Given the description of an element on the screen output the (x, y) to click on. 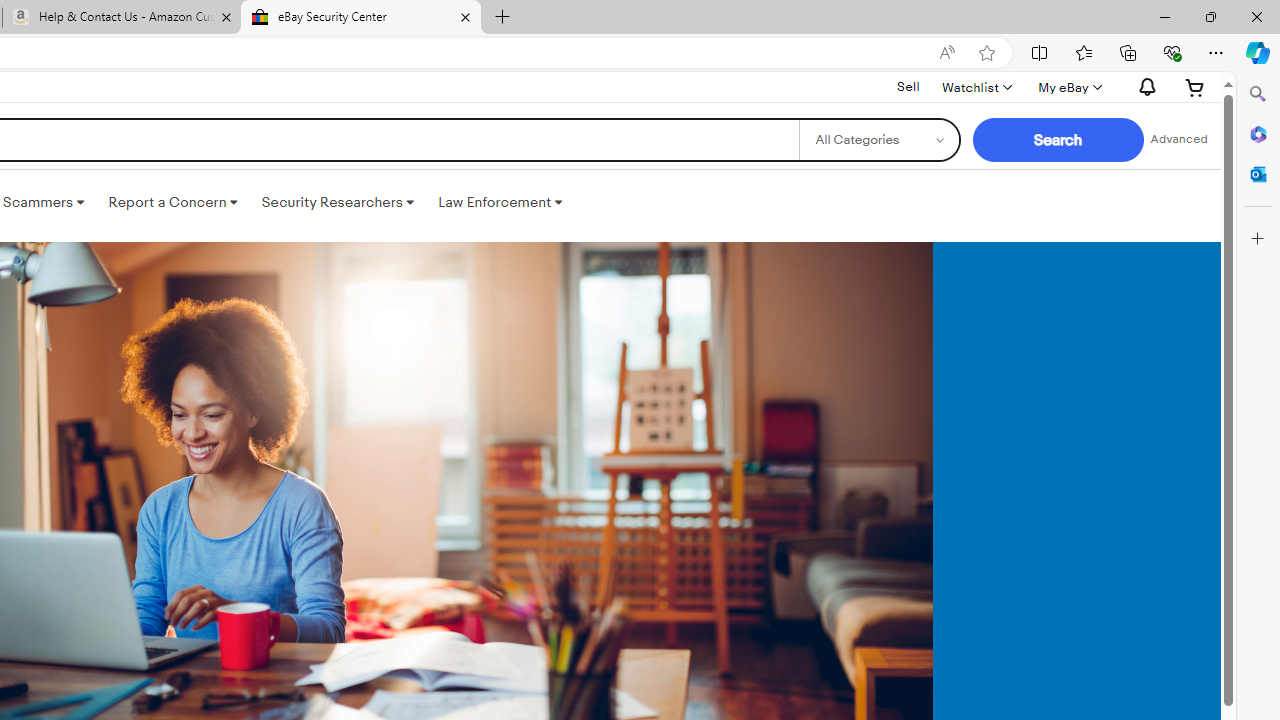
Microsoft 365 (1258, 133)
Security Researchers  (337, 202)
Security Researchers  (337, 202)
Customize (1258, 239)
My eBay (1068, 87)
Sell (907, 86)
Expand Cart (1195, 87)
Advanced Search (1179, 139)
Notifications (1142, 87)
